Given the description of an element on the screen output the (x, y) to click on. 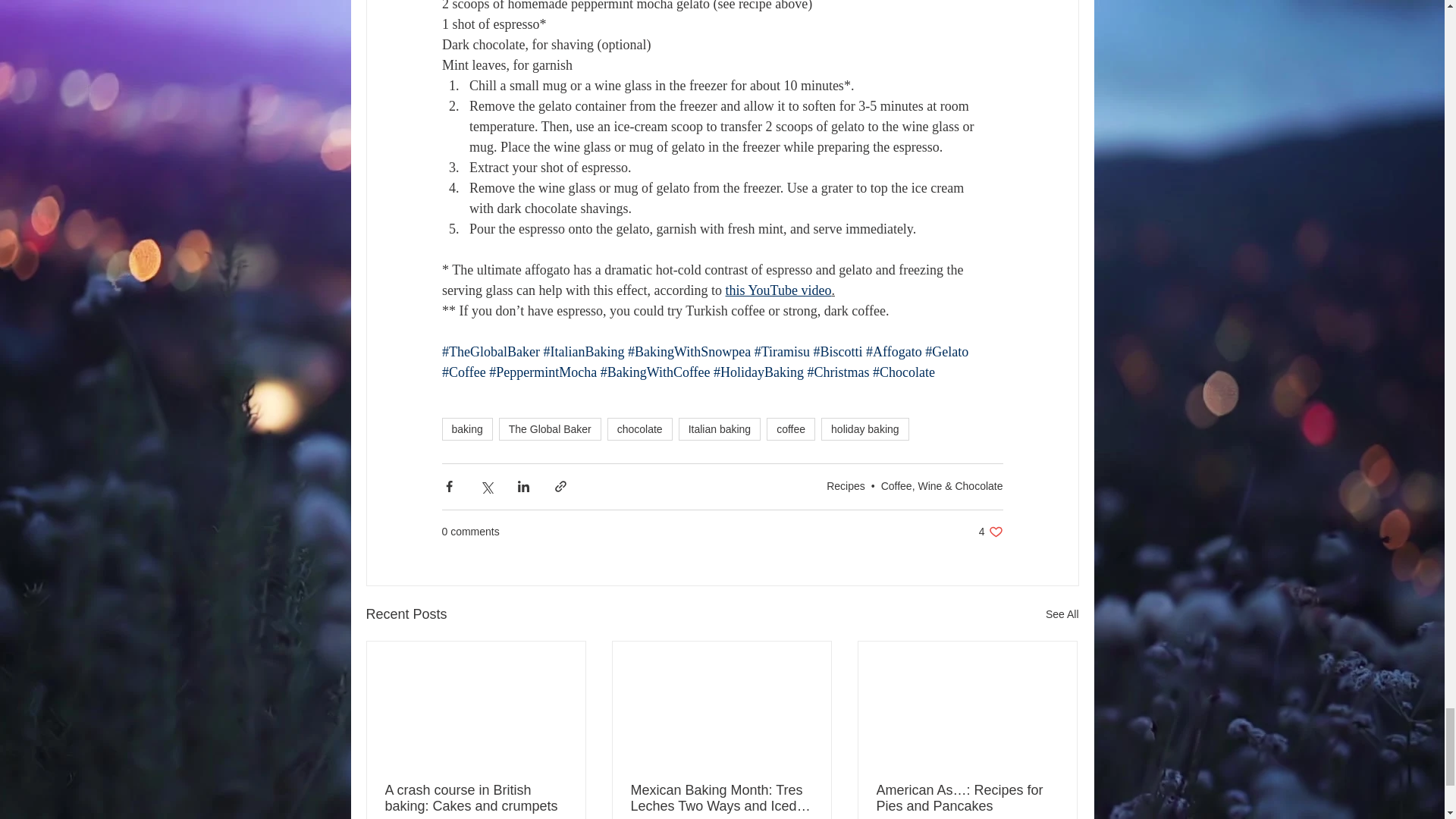
this YouTube video (778, 290)
